Given the description of an element on the screen output the (x, y) to click on. 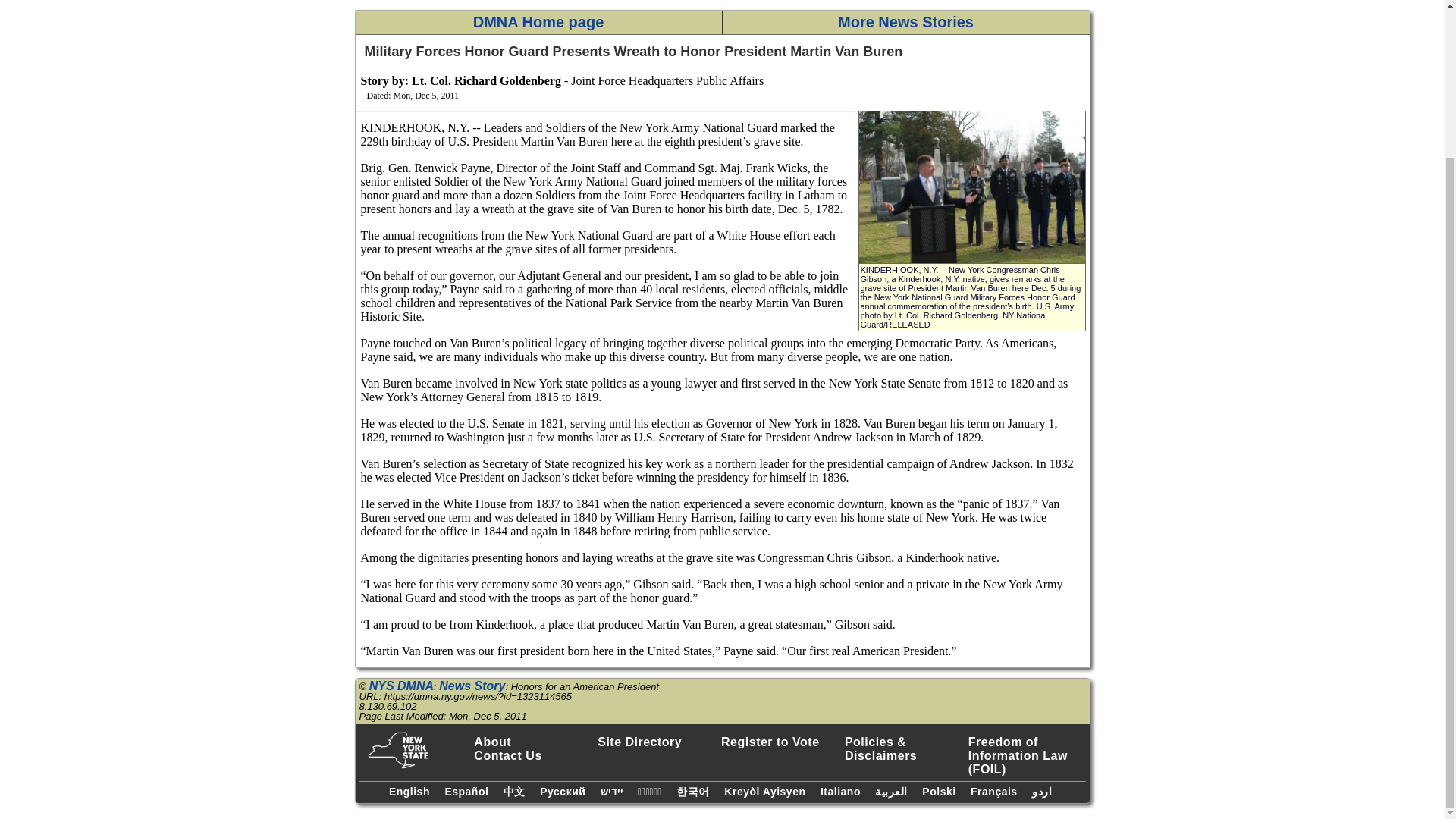
About (532, 742)
Site Directory (655, 742)
Italiano (841, 789)
English (411, 789)
NYS DMNA (401, 685)
Chinese (515, 790)
Register to Vote (779, 742)
Haitian Creole (766, 789)
English (411, 789)
More News Stories (905, 22)
Contact Us (532, 755)
News Story (472, 685)
Yiddish (613, 789)
Russian (563, 789)
NYS DMNA Site Map (655, 742)
